Given the description of an element on the screen output the (x, y) to click on. 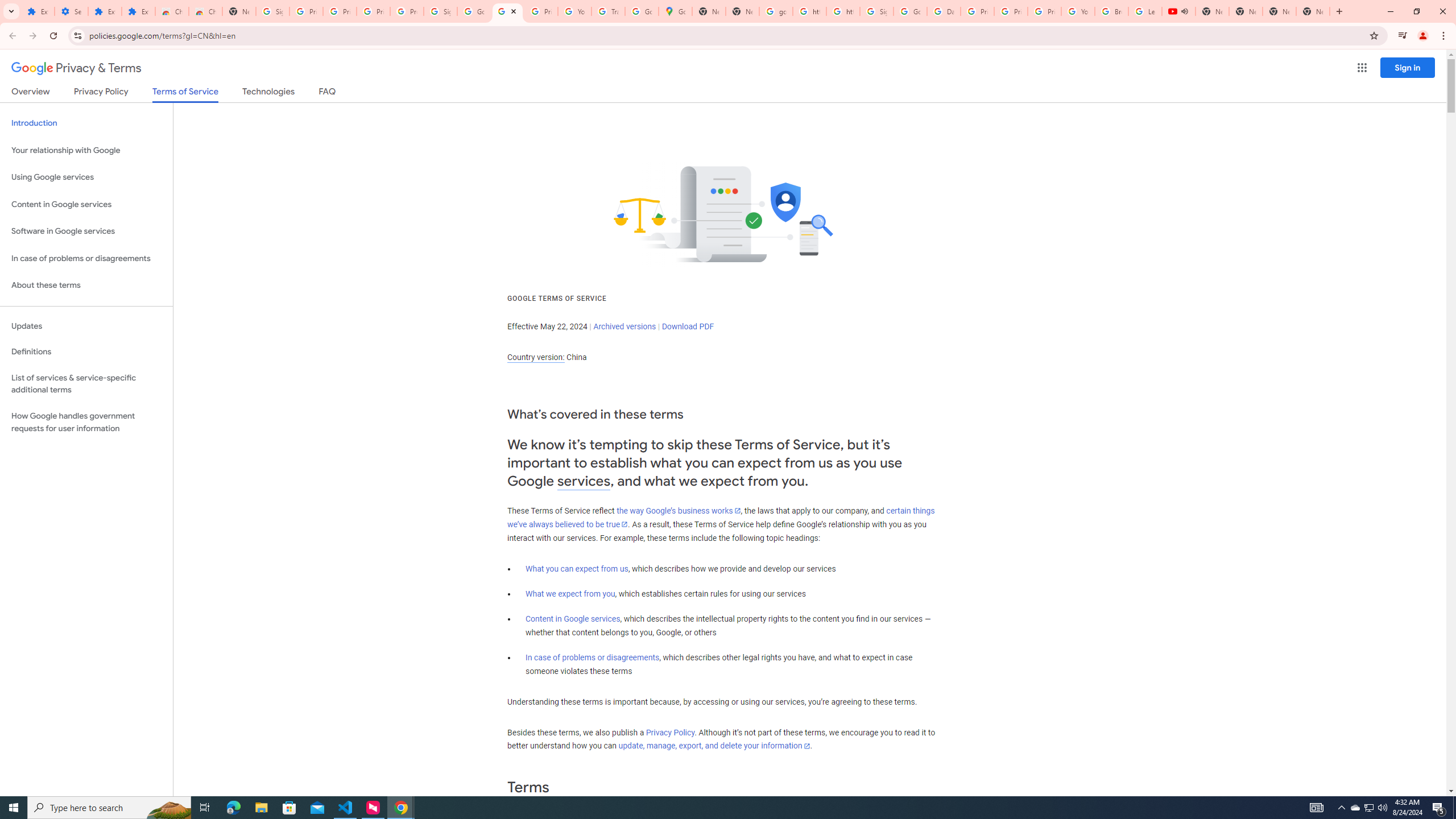
About these terms (86, 284)
New Tab (1313, 11)
Sign in - Google Accounts (272, 11)
Extensions (138, 11)
Your relationship with Google (86, 150)
